Given the description of an element on the screen output the (x, y) to click on. 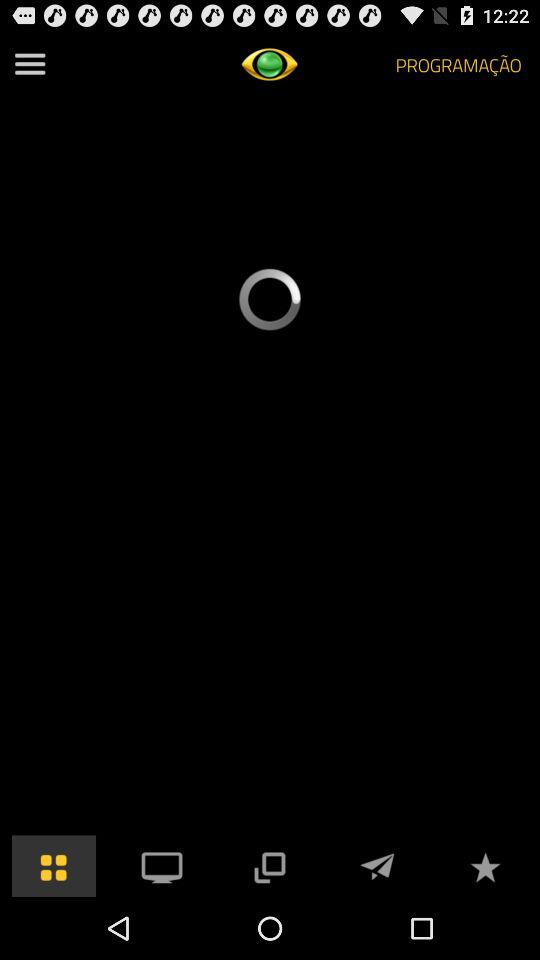
send file (377, 865)
